Given the description of an element on the screen output the (x, y) to click on. 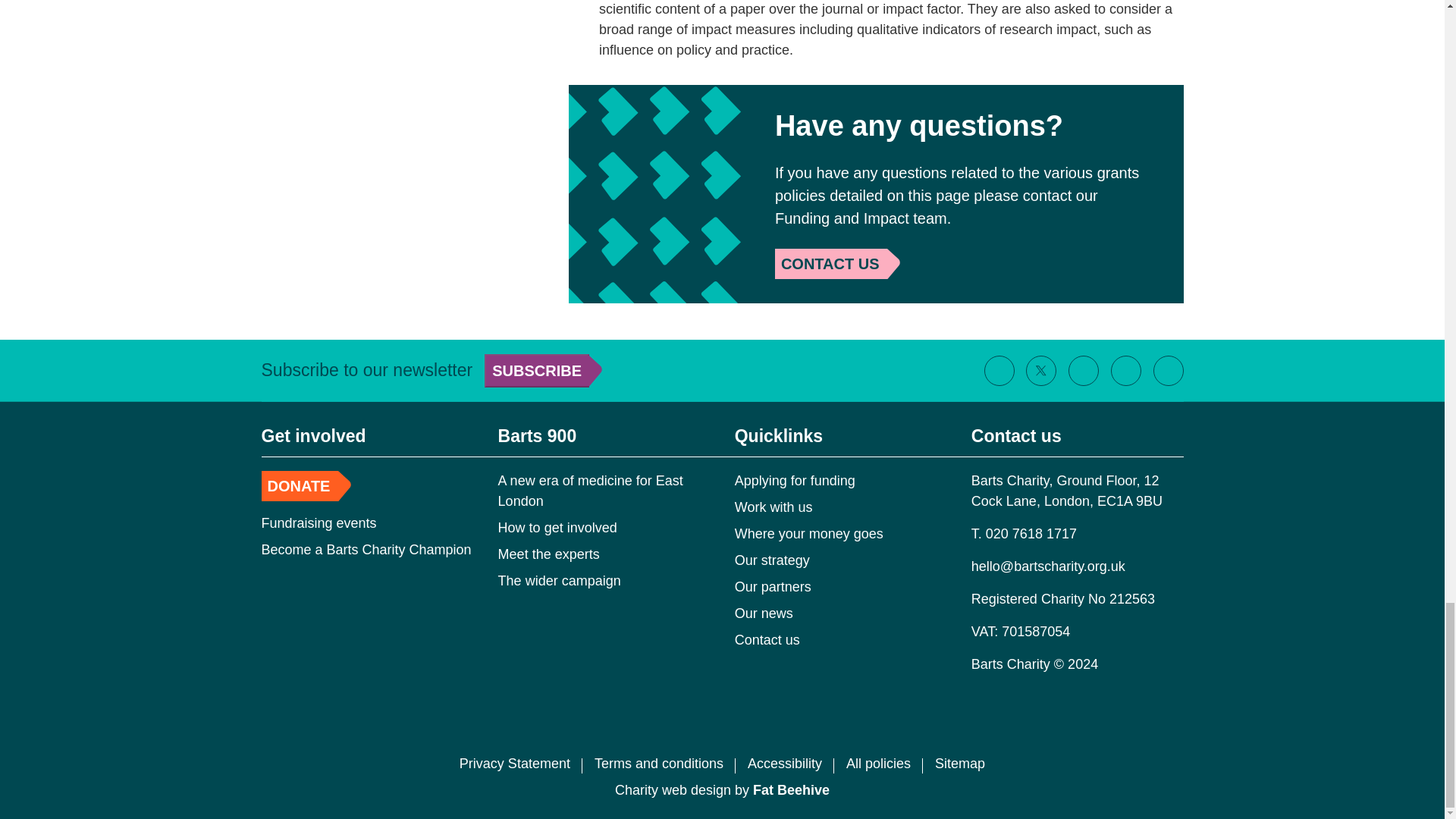
Linkedin (1125, 370)
Twitter (1040, 370)
Youtube (1167, 370)
Facebook (999, 370)
Instagram (1083, 370)
